Given the description of an element on the screen output the (x, y) to click on. 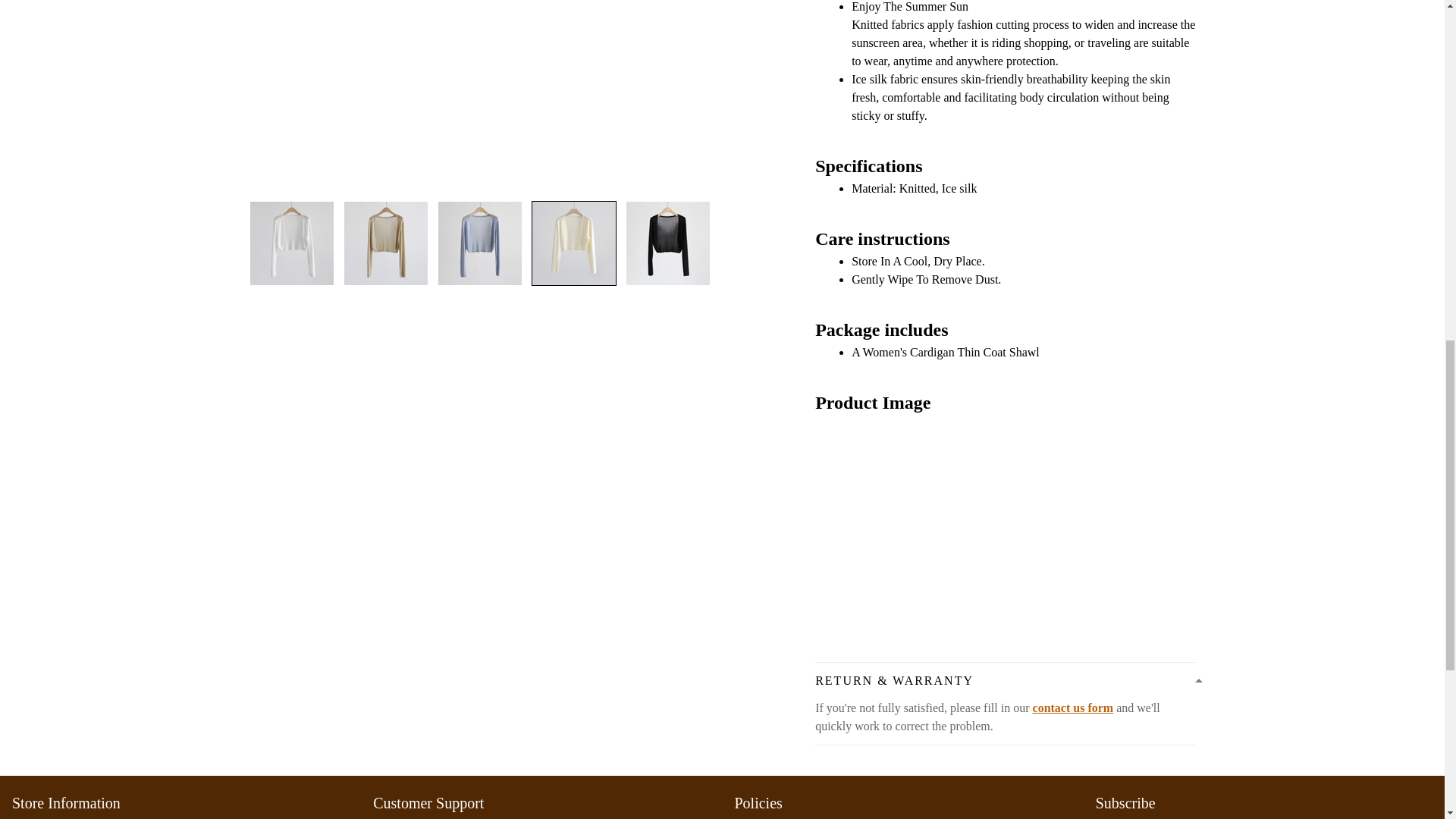
contact us form (1072, 707)
